Given the description of an element on the screen output the (x, y) to click on. 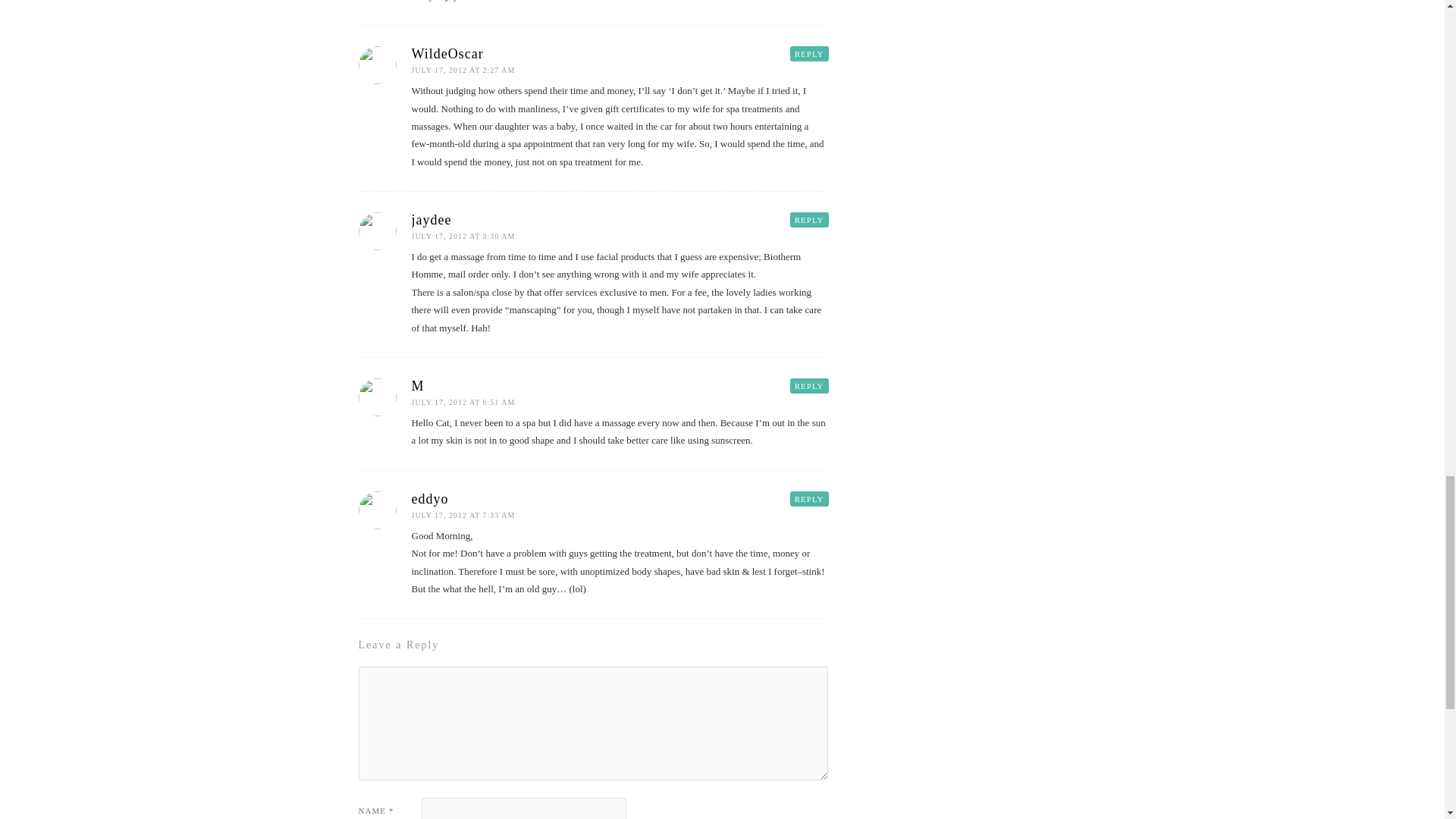
REPLY (809, 219)
REPLY (809, 498)
REPLY (809, 53)
REPLY (809, 385)
